Given the description of an element on the screen output the (x, y) to click on. 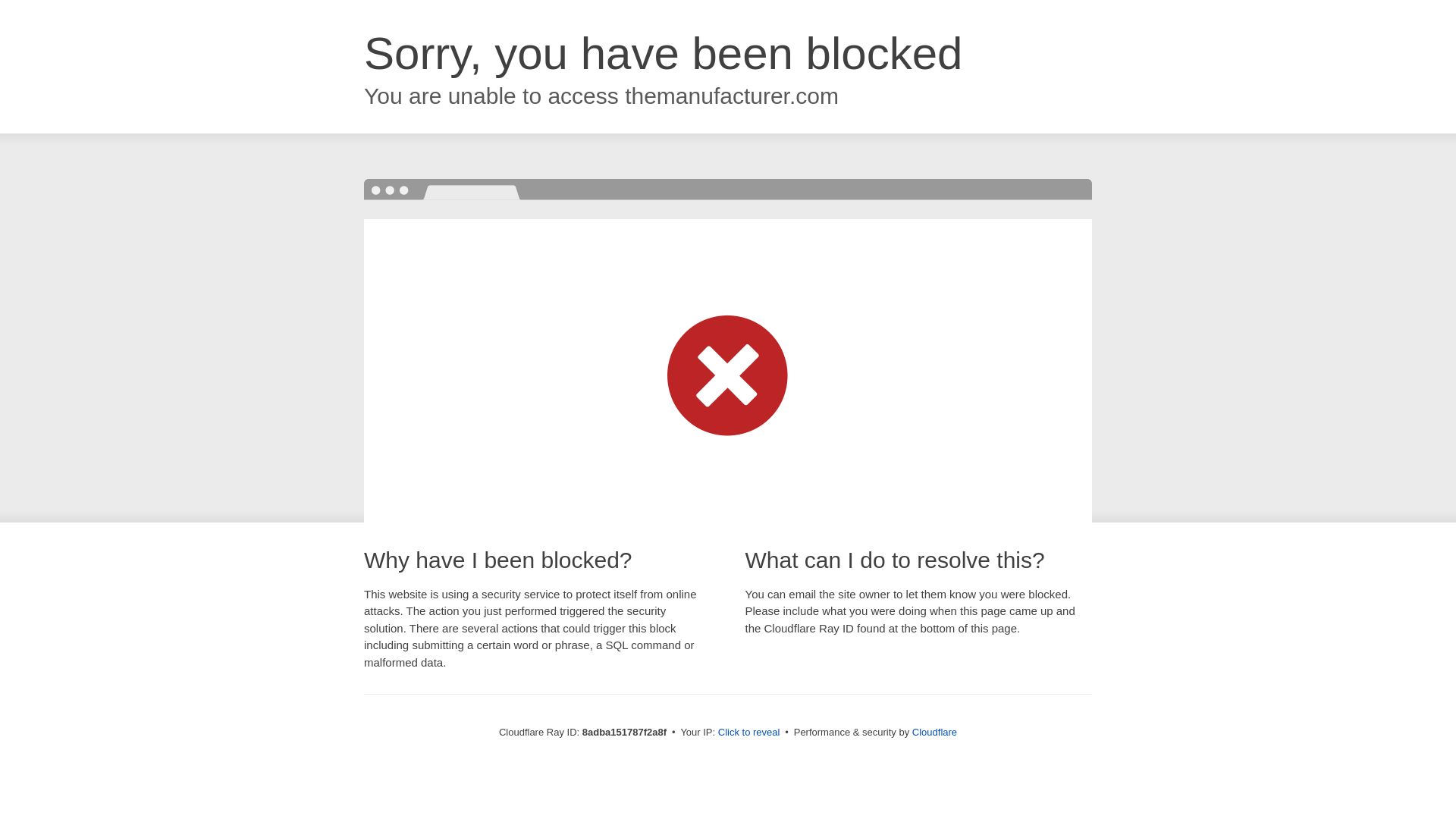
Click to reveal (748, 732)
Cloudflare (934, 731)
